Given the description of an element on the screen output the (x, y) to click on. 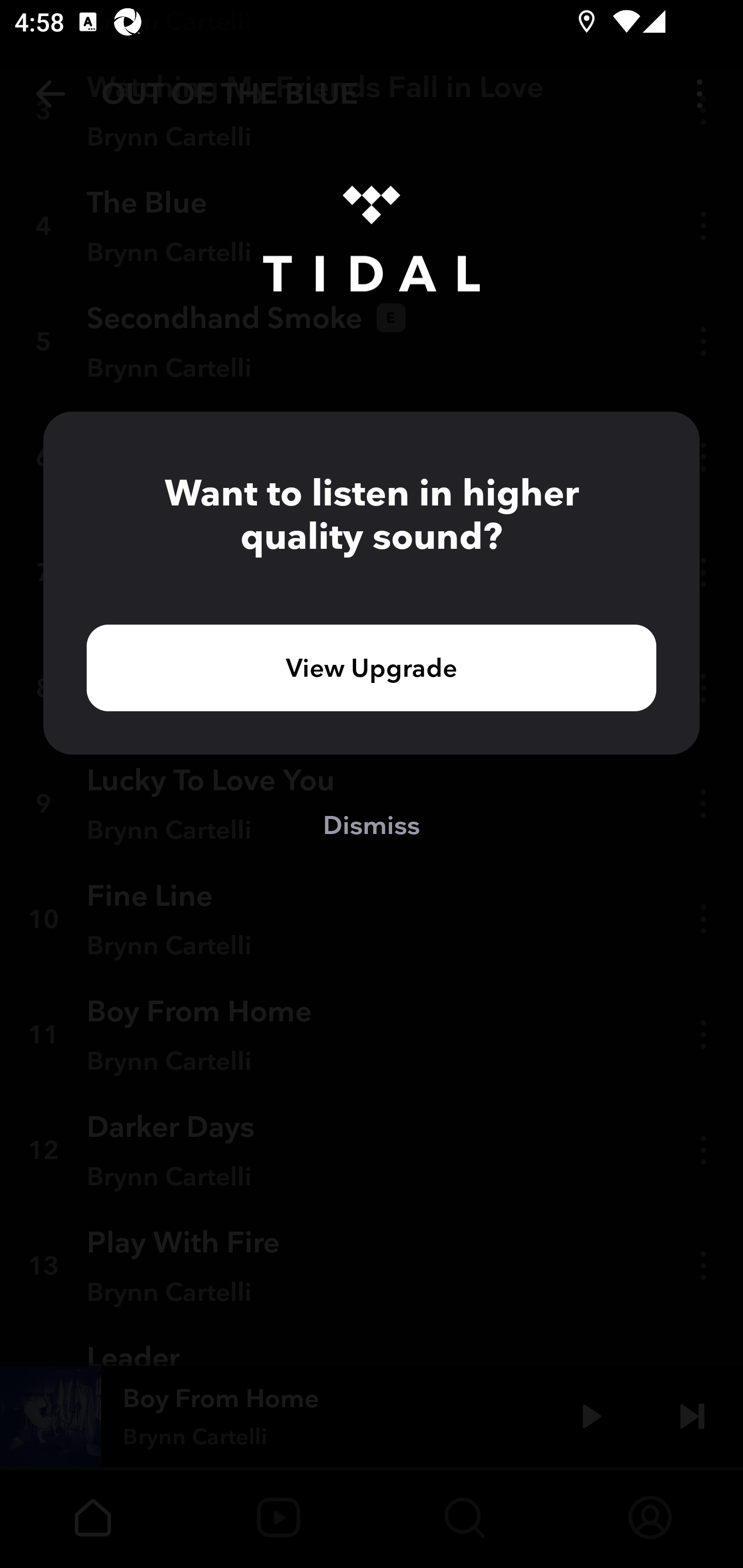
View Upgrade (371, 667)
Dismiss (371, 824)
